Given the description of an element on the screen output the (x, y) to click on. 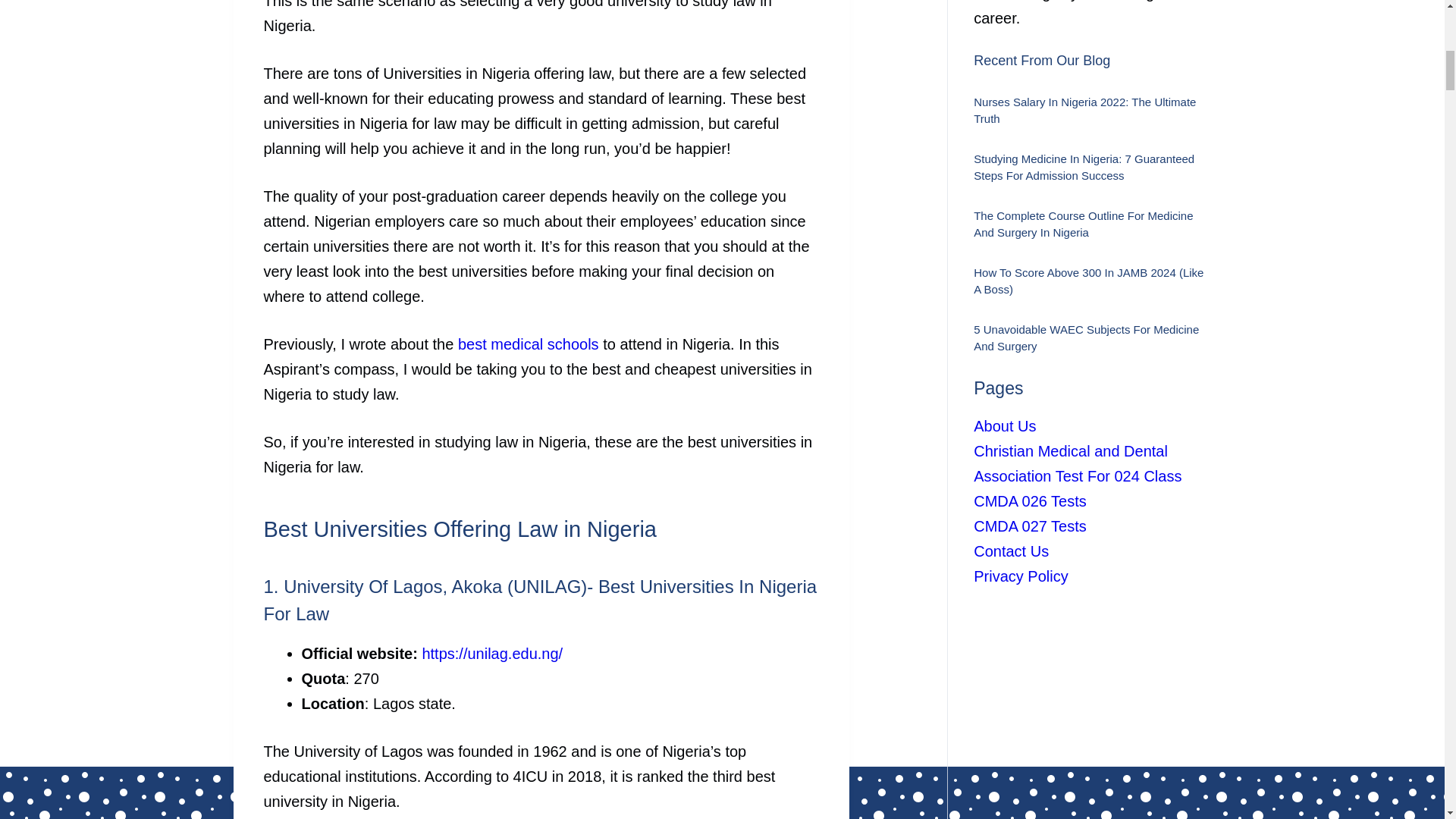
best medical schools (528, 343)
